Given the description of an element on the screen output the (x, y) to click on. 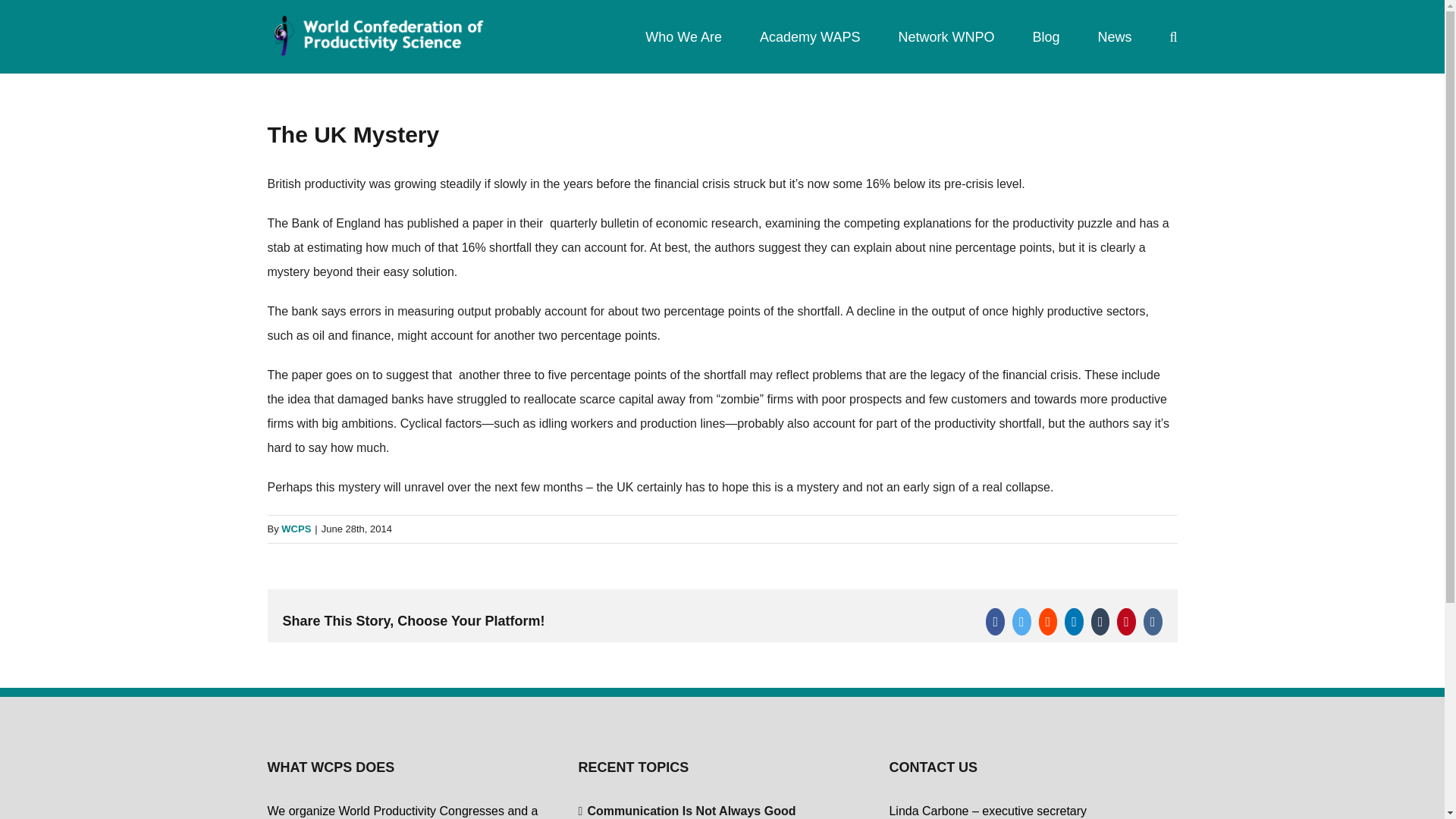
Blog (1045, 36)
Twitter (1020, 621)
Vk (1151, 621)
Facebook (994, 621)
Tumblr (1099, 621)
News (1114, 36)
LinkedIn (1073, 621)
Who We Are (683, 36)
Academy WAPS (810, 36)
Reddit (1048, 621)
Pinterest (1125, 621)
Search (1172, 36)
Posts by WCPS (296, 528)
Network WNPO (946, 36)
